Given the description of an element on the screen output the (x, y) to click on. 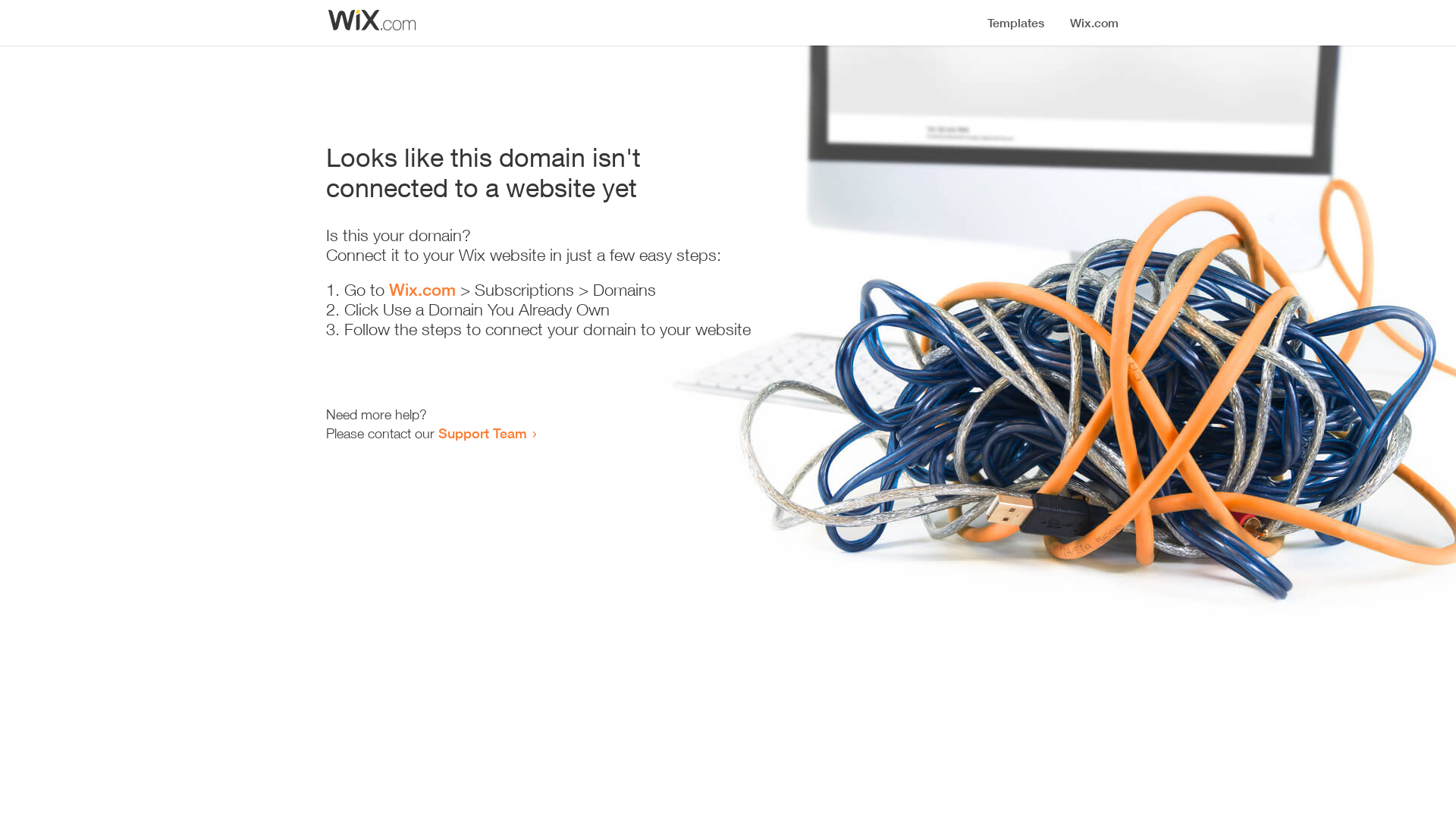
Support Team Element type: text (482, 432)
Wix.com Element type: text (422, 289)
